Given the description of an element on the screen output the (x, y) to click on. 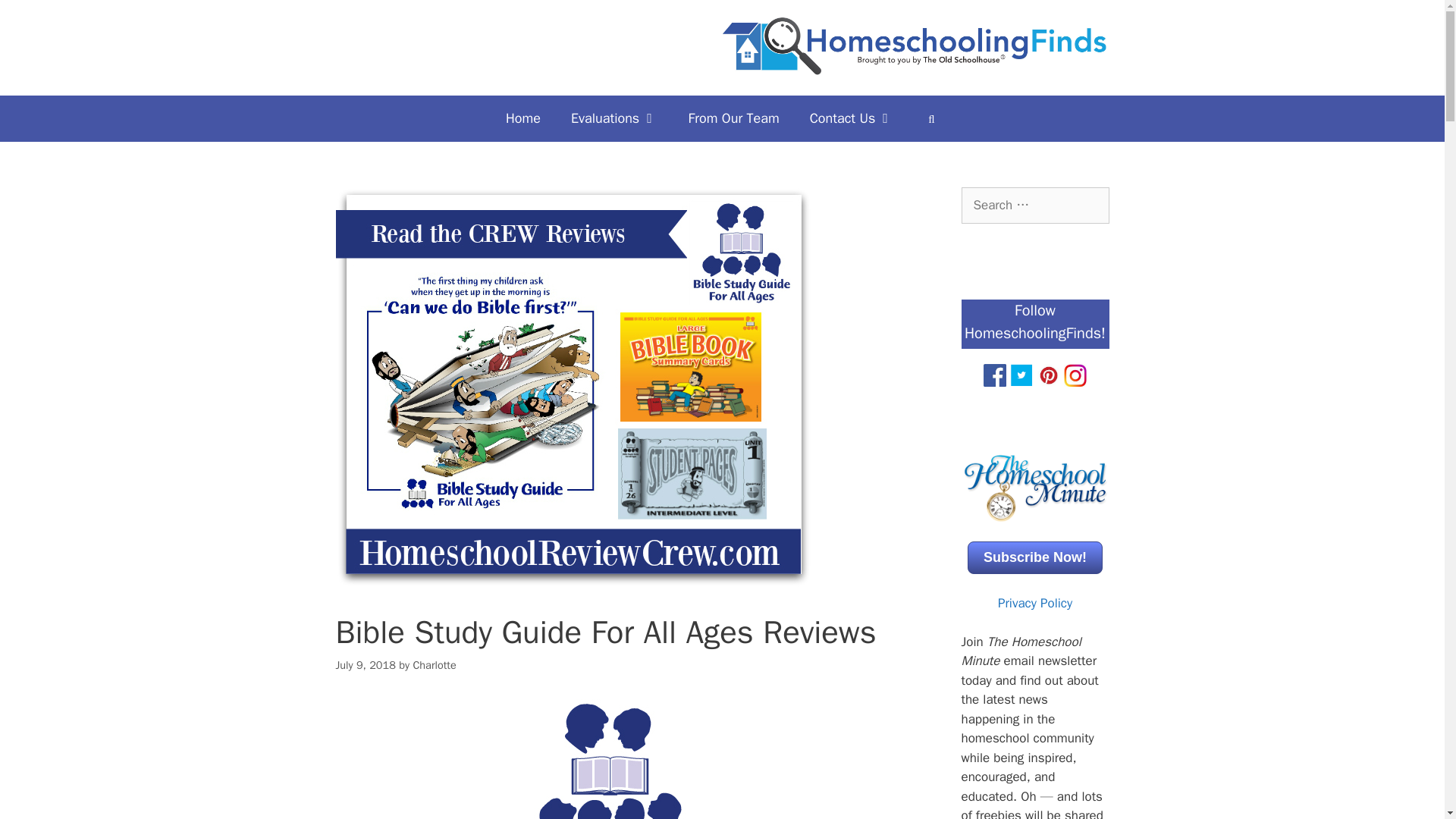
Charlotte (433, 664)
Evaluations (614, 117)
From Our Team (733, 117)
Home (523, 117)
Contact Us (851, 117)
View all posts by Charlotte (433, 664)
Search (35, 18)
Search for: (1034, 205)
